Given the description of an element on the screen output the (x, y) to click on. 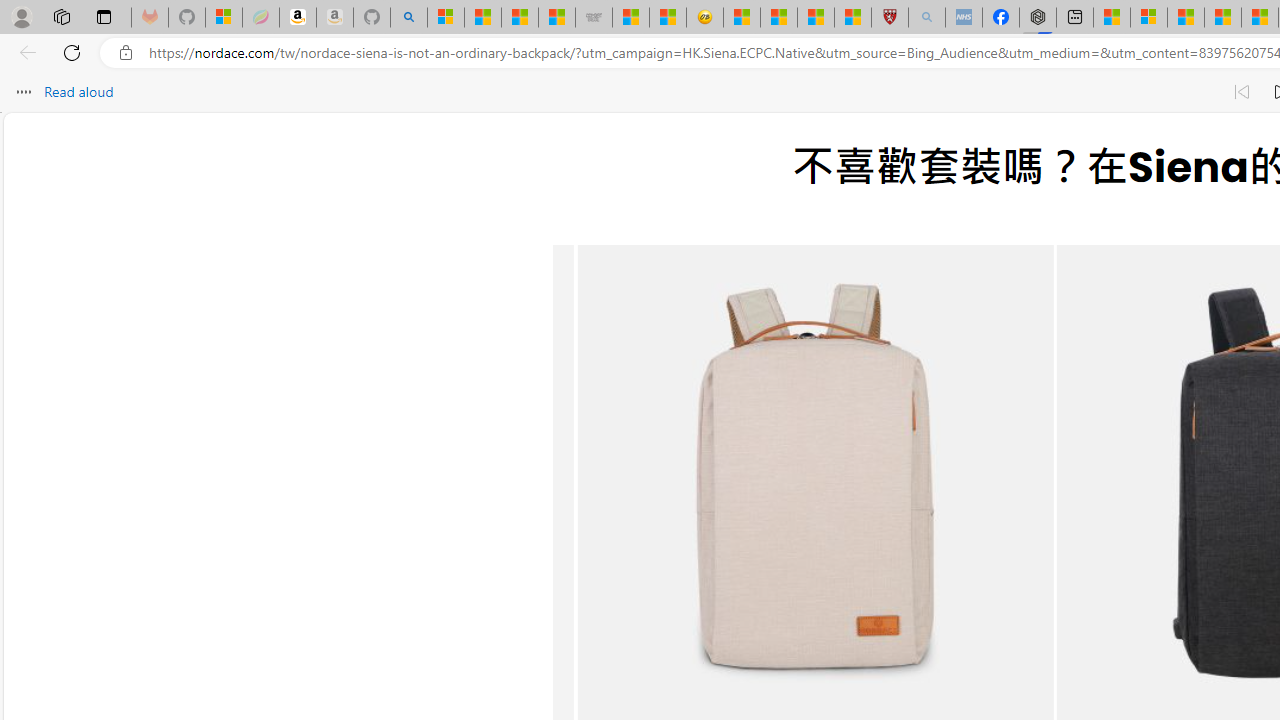
Stocks - MSN (556, 17)
Previous (605, 501)
Read previous paragraph (1241, 92)
12 Popular Science Lies that Must be Corrected (852, 17)
Class: flickity-button-icon (605, 502)
Nordace - Nordace Siena Is Not An Ordinary Backpack (1037, 17)
